Given the description of an element on the screen output the (x, y) to click on. 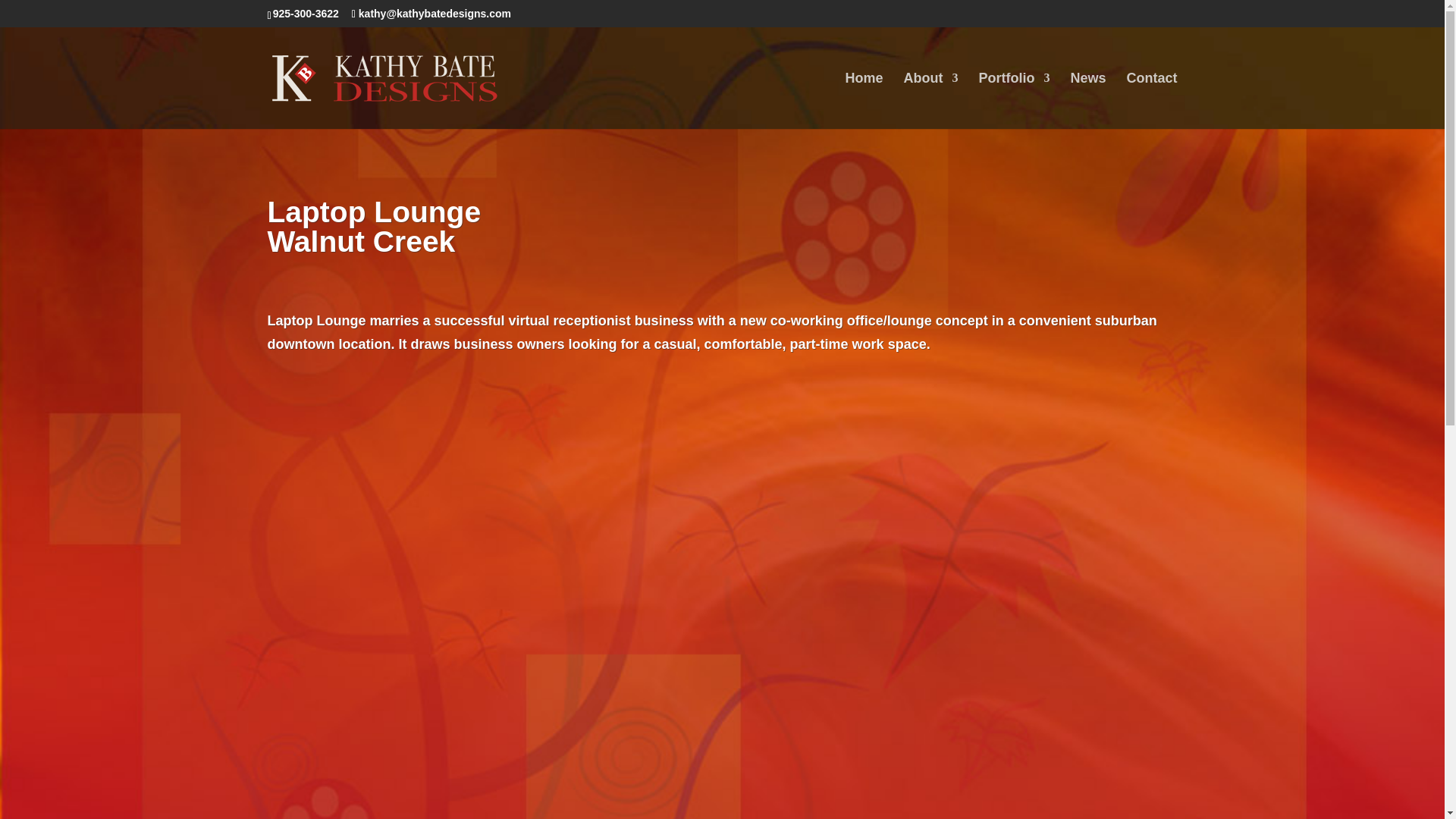
Portfolio (1013, 100)
About (930, 100)
Contact (1151, 100)
